Given the description of an element on the screen output the (x, y) to click on. 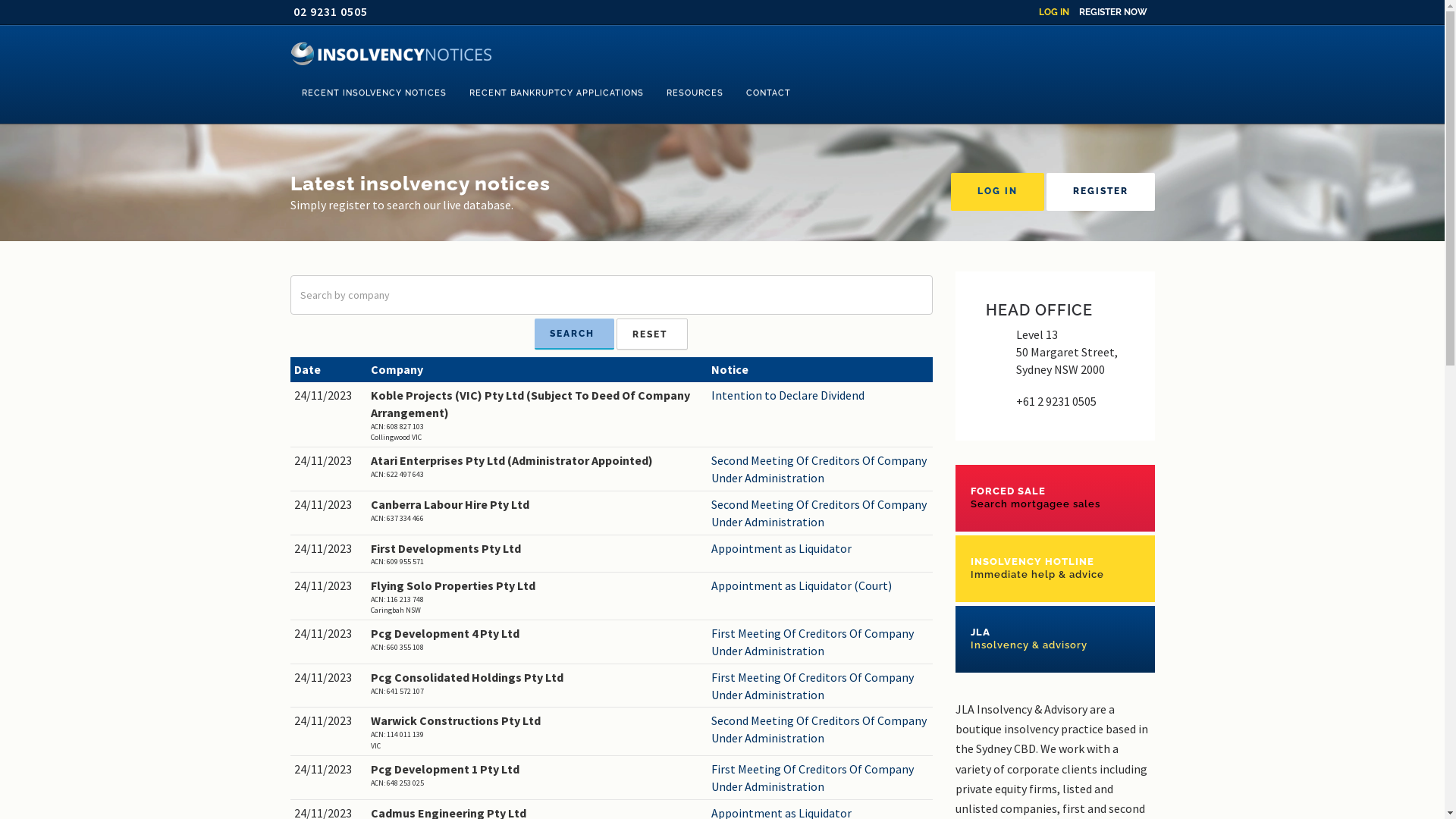
24/11/2023 Element type: text (329, 395)
Search Element type: text (574, 333)
RESOURCES Element type: text (694, 92)
24/11/2023 Element type: text (329, 460)
REGISTER NOW Element type: text (1112, 11)
LOG IN Element type: text (1053, 11)
Second Meeting Of Creditors Of Company Under Administration Element type: text (819, 468)
Pcg Development 1 Pty Ltd
ACN: 648 253 025 Element type: text (536, 774)
LOG IN Element type: text (997, 191)
24/11/2023 Element type: text (329, 504)
Canberra Labour Hire Pty Ltd
ACN: 637 334 466 Element type: text (536, 509)
REGISTER Element type: text (1100, 191)
Warwick Constructions Pty Ltd
ACN: 114 011 139
VIC Element type: text (536, 731)
INSOLVENCY HOTLINE  
Immediate help & advice Element type: text (1054, 568)
Appointment as Liquidator (Court) Element type: text (819, 585)
RECENT INSOLVENCY NOTICES Element type: text (373, 92)
24/11/2023 Element type: text (329, 633)
Second Meeting Of Creditors Of Company Under Administration Element type: text (819, 729)
First Meeting Of Creditors Of Company Under Administration Element type: text (819, 641)
Second Meeting Of Creditors Of Company Under Administration Element type: text (819, 512)
JLA  
Insolvency & advisory Element type: text (1054, 638)
24/11/2023 Element type: text (329, 585)
RECENT BANKRUPTCY APPLICATIONS Element type: text (556, 92)
24/11/2023 Element type: text (329, 720)
First Meeting Of Creditors Of Company Under Administration Element type: text (819, 685)
24/11/2023 Element type: text (329, 769)
First Developments Pty Ltd
ACN: 609 955 571 Element type: text (536, 553)
Intention to Declare Dividend Element type: text (819, 395)
Appointment as Liquidator Element type: text (819, 548)
24/11/2023 Element type: text (329, 548)
Pcg Consolidated Holdings Pty Ltd
ACN: 641 572 107 Element type: text (536, 682)
First Meeting Of Creditors Of Company Under Administration Element type: text (819, 777)
24/11/2023 Element type: text (329, 677)
FORCED SALE  
Search mortgagee sales Element type: text (1054, 497)
Pcg Development 4 Pty Ltd
ACN: 660 355 108 Element type: text (536, 638)
CONTACT Element type: text (767, 92)
